Given the description of an element on the screen output the (x, y) to click on. 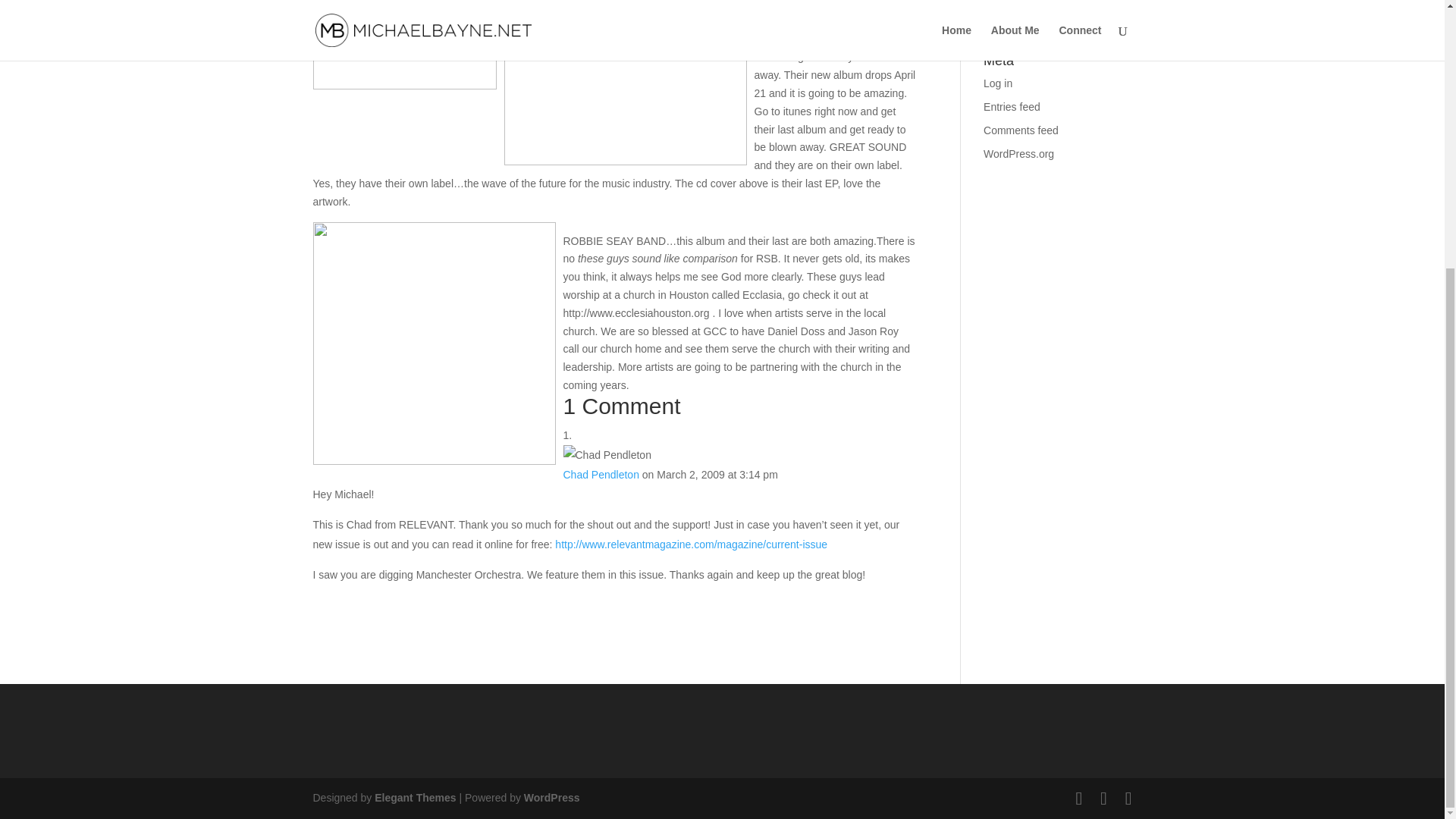
Search (1106, 15)
Log in (997, 82)
WordPress.org (1019, 153)
Search (1106, 15)
WordPress (551, 797)
Premium WordPress Themes (414, 797)
Entries feed (1012, 106)
Chad Pendleton (600, 474)
Comments feed (1021, 130)
Elegant Themes (414, 797)
